Given the description of an element on the screen output the (x, y) to click on. 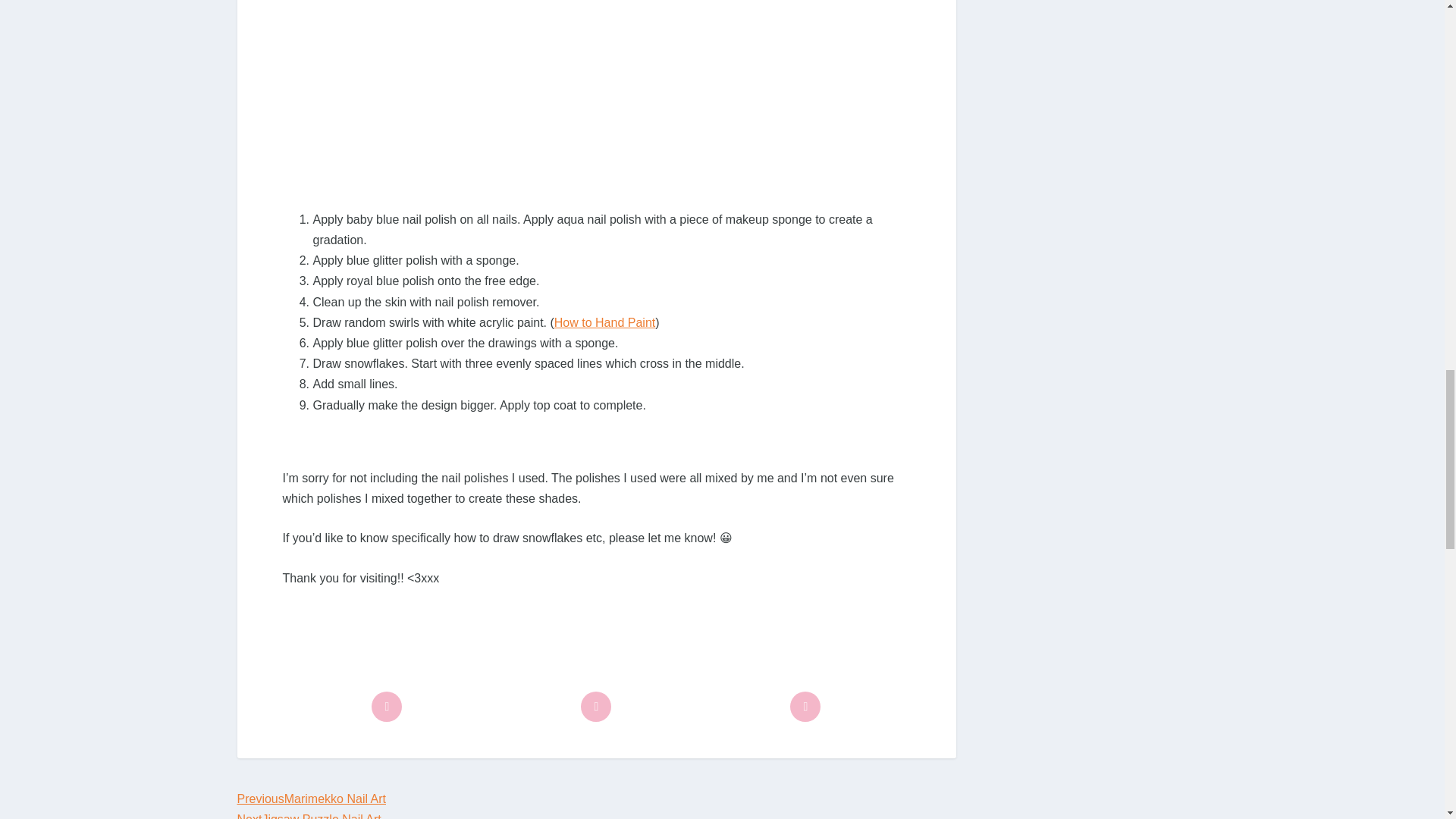
How to Hand Painted Nail Art (604, 322)
NextJigsaw Puzzle Nail Art (307, 816)
How to Hand Paint (604, 322)
PreviousMarimekko Nail Art (310, 798)
